Given the description of an element on the screen output the (x, y) to click on. 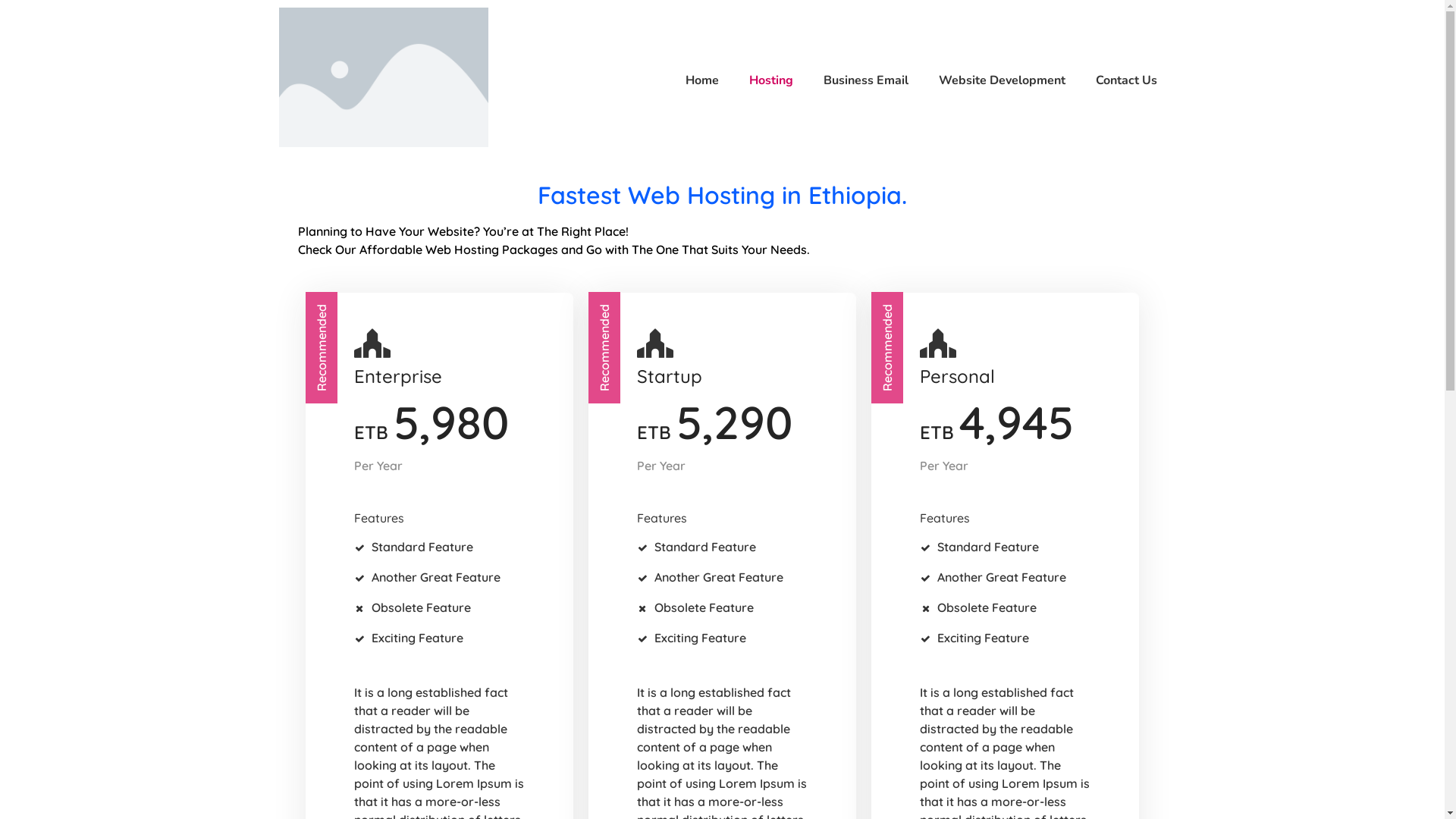
Contact Us Element type: text (1118, 80)
Business Email Element type: text (858, 80)
Home Element type: text (694, 80)
Website Development Element type: text (994, 80)
Hosting Element type: text (763, 80)
